Given the description of an element on the screen output the (x, y) to click on. 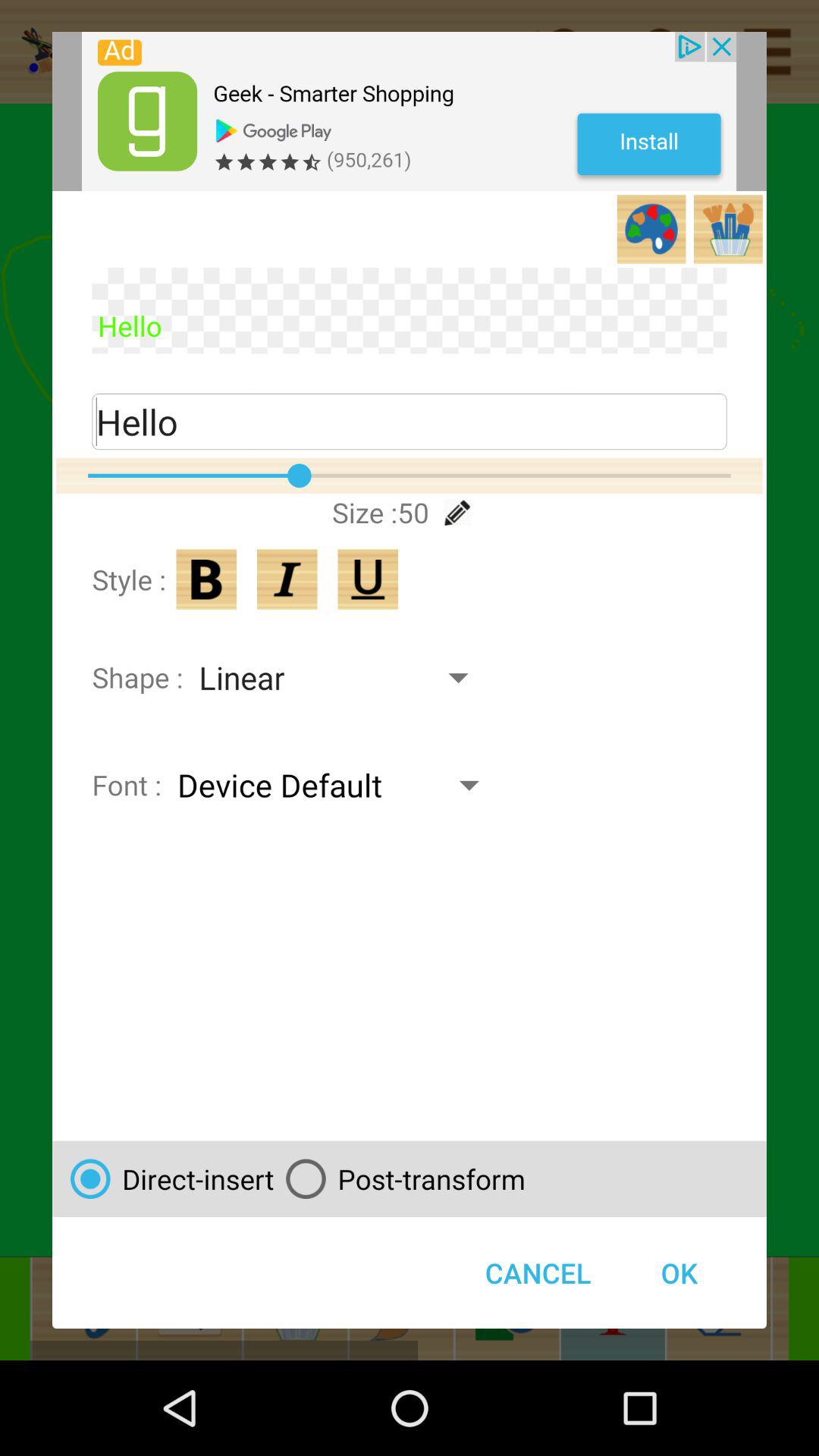
italics (287, 579)
